Given the description of an element on the screen output the (x, y) to click on. 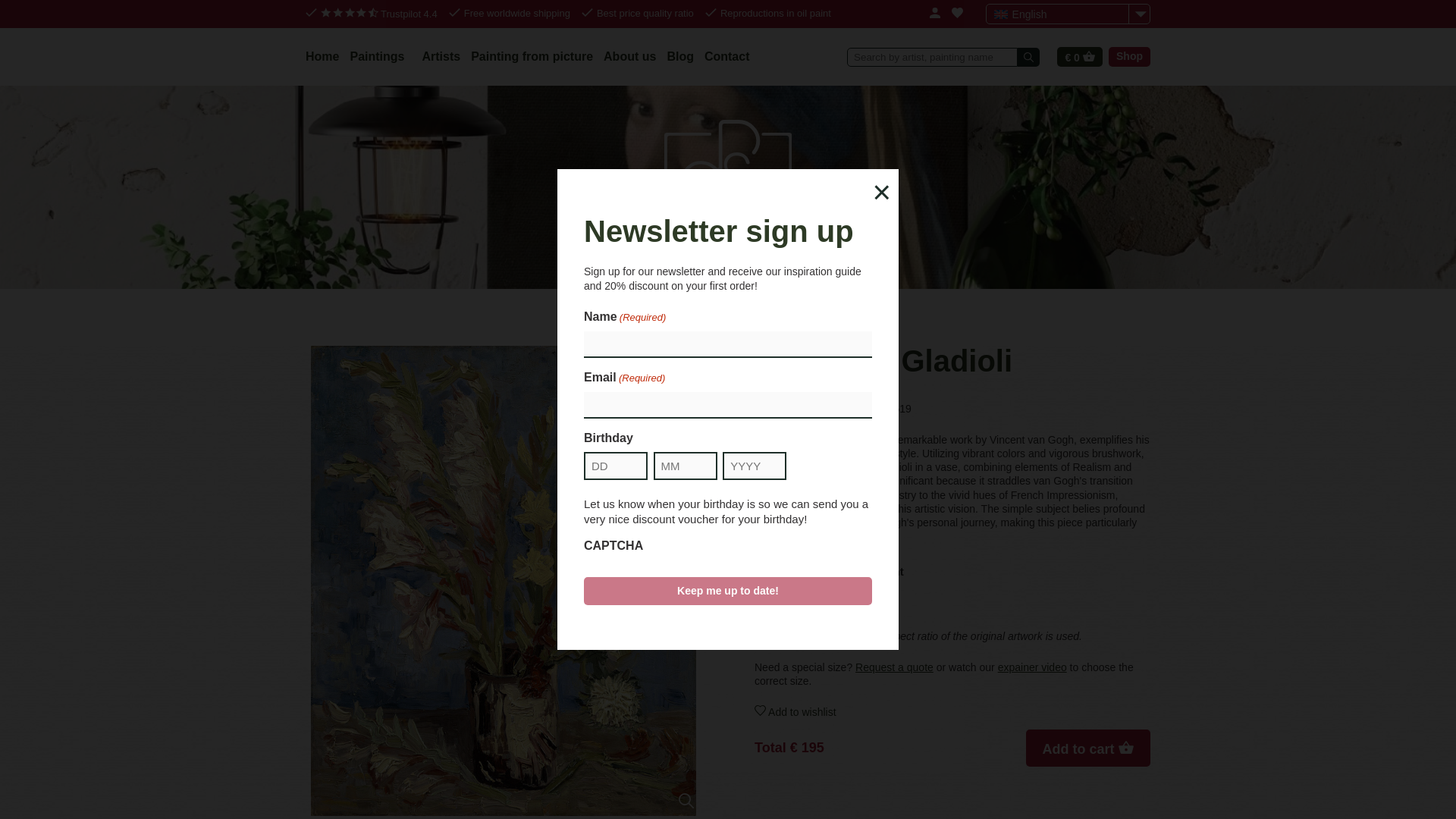
Add to cart (1088, 748)
Home (322, 56)
expainer video (1032, 666)
Add to wishlist (952, 712)
Keep me up to date! (727, 590)
About us (630, 56)
Paintings (379, 56)
Add to wishlist (952, 712)
Trustpilot 4.4 (379, 14)
Painting from picture (531, 56)
Vincent van Gogh (811, 408)
Shop (1129, 56)
Contact (726, 56)
Artists (441, 56)
Request a quote (894, 666)
